Given the description of an element on the screen output the (x, y) to click on. 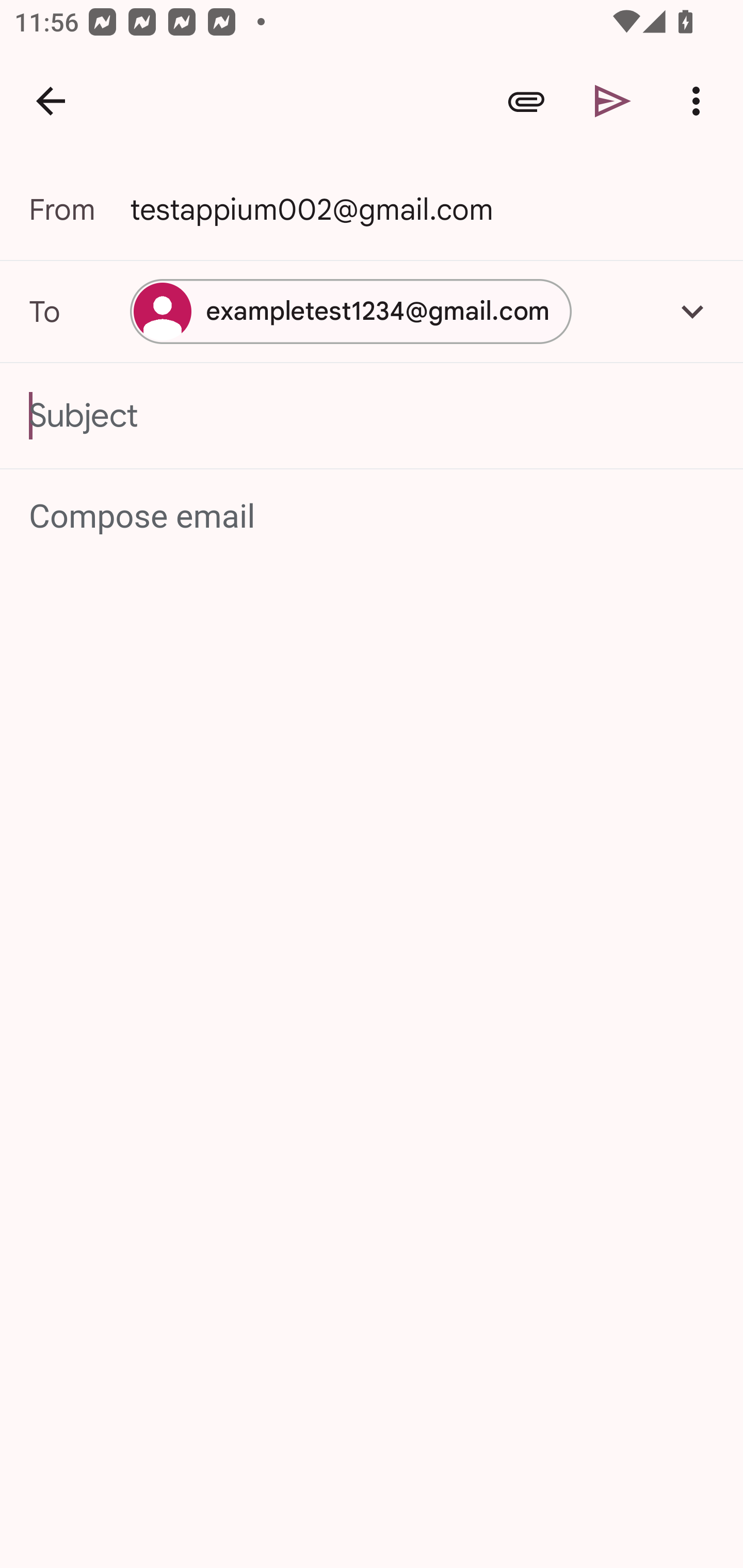
Navigate up (50, 101)
Attach file (525, 101)
Send (612, 101)
More options (699, 101)
From (79, 209)
Add Cc/Bcc (692, 311)
Subject (371, 415)
Compose email (372, 517)
